Given the description of an element on the screen output the (x, y) to click on. 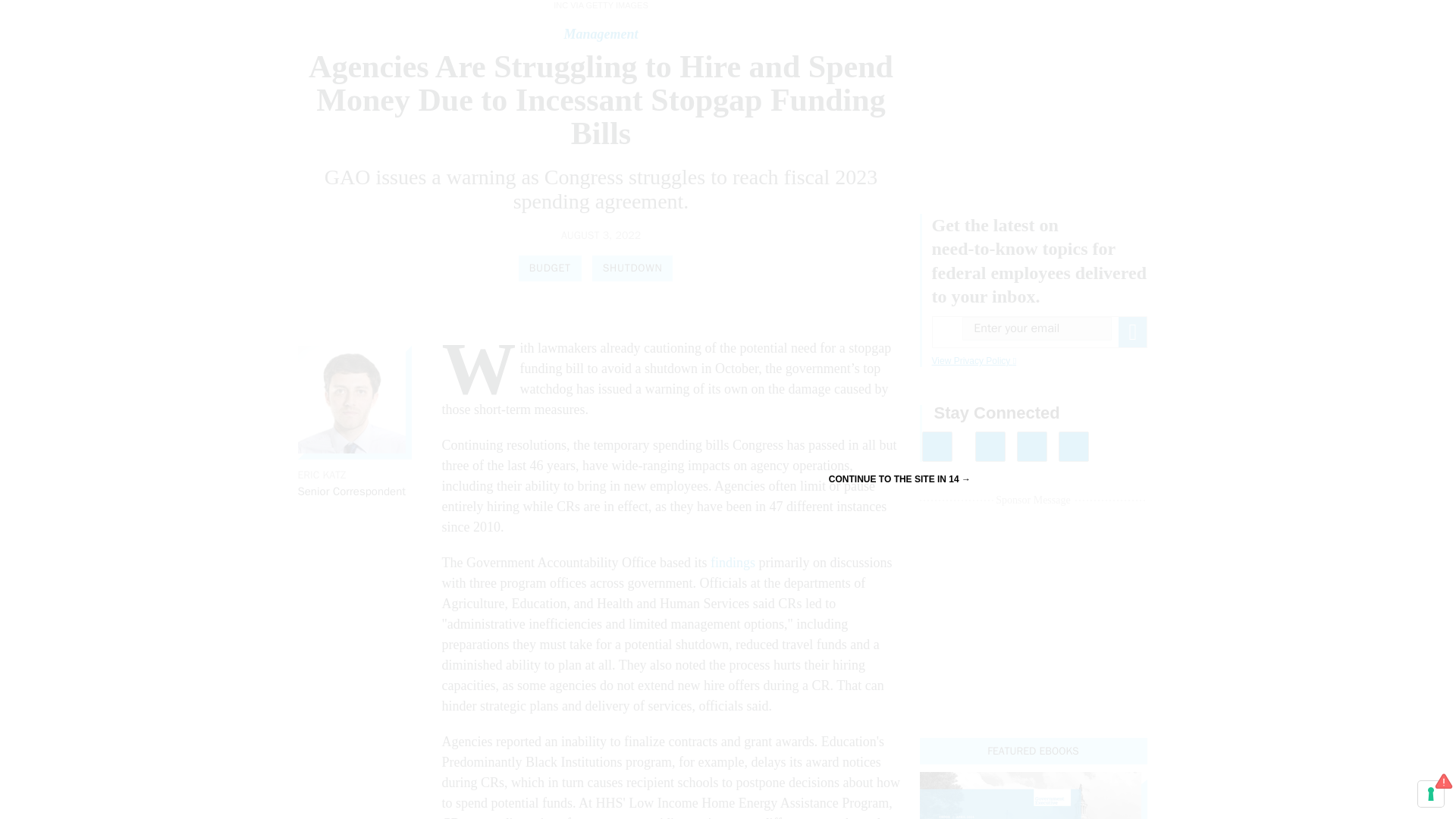
3rd party ad content (1032, 88)
